Given the description of an element on the screen output the (x, y) to click on. 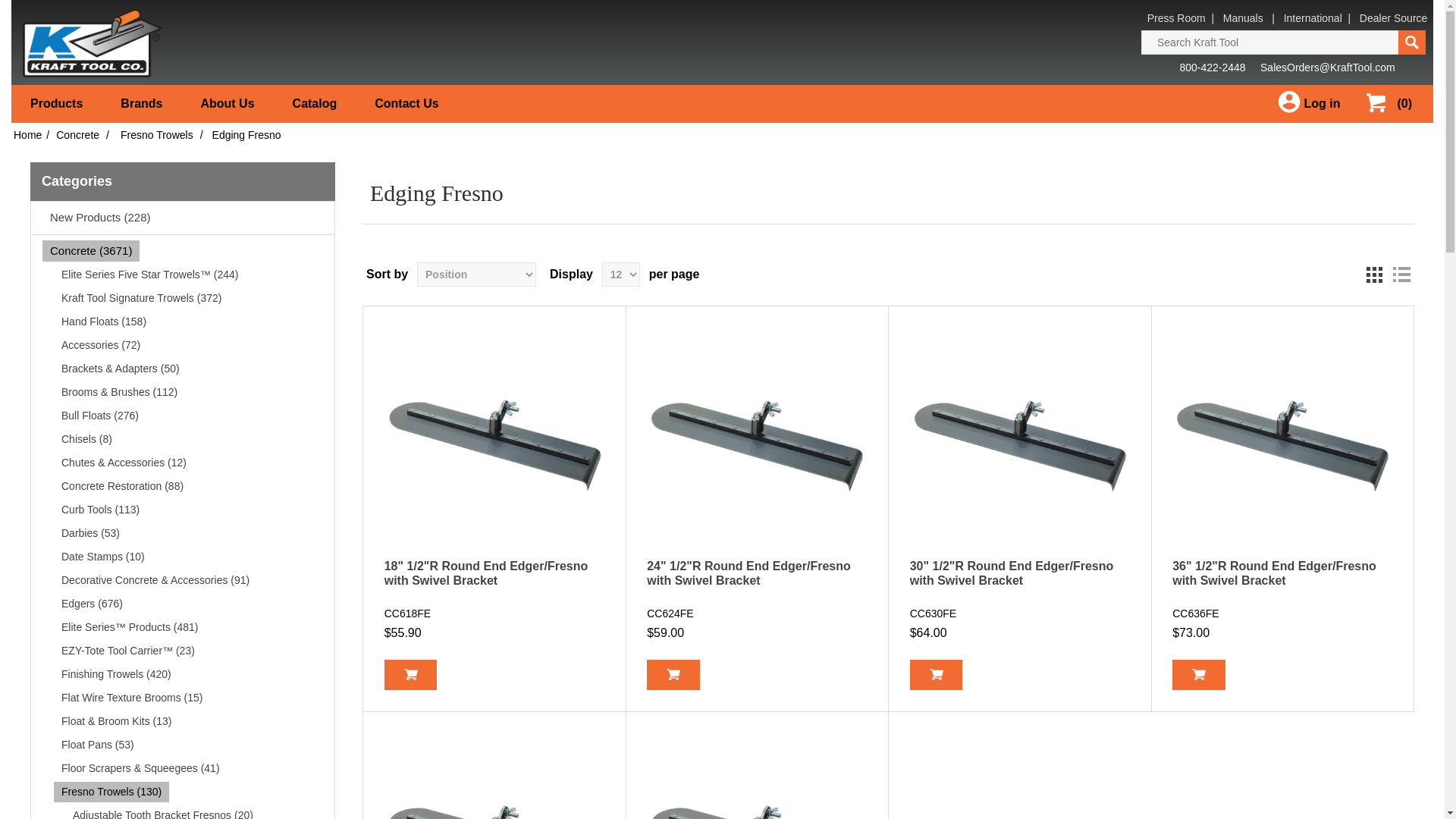
Dealer Source (1393, 18)
Add to cart (1198, 675)
Press Room (1176, 18)
Add to cart (936, 675)
International (1313, 18)
About Us (227, 103)
Brands (141, 103)
Add to cart (673, 675)
Search (1411, 42)
Fresno Trowels (156, 134)
